Given the description of an element on the screen output the (x, y) to click on. 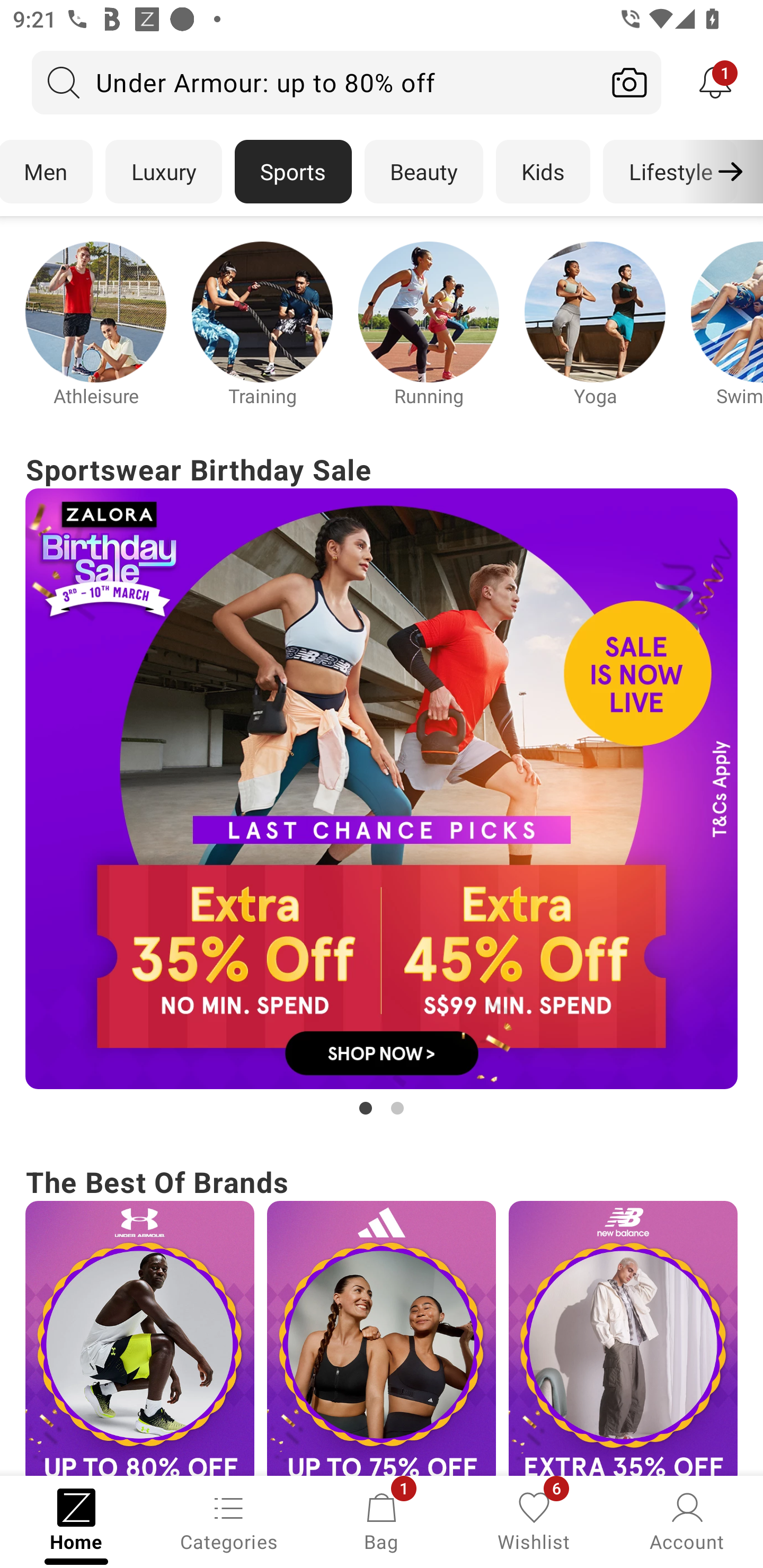
Under Armour: up to 80% off (314, 82)
Men (46, 171)
Luxury (163, 171)
Sports (293, 171)
Beauty (423, 171)
Kids (542, 171)
Lifestyle (669, 171)
Campaign banner (95, 311)
Campaign banner (261, 311)
Campaign banner (428, 311)
Campaign banner (594, 311)
Sportswear Birthday Sale  Campaign banner (381, 783)
Campaign banner (381, 788)
Campaign banner (139, 1338)
Campaign banner (381, 1338)
Campaign banner (622, 1338)
Categories (228, 1519)
Bag, 1 new notification Bag (381, 1519)
Wishlist, 6 new notifications Wishlist (533, 1519)
Account (686, 1519)
